Given the description of an element on the screen output the (x, y) to click on. 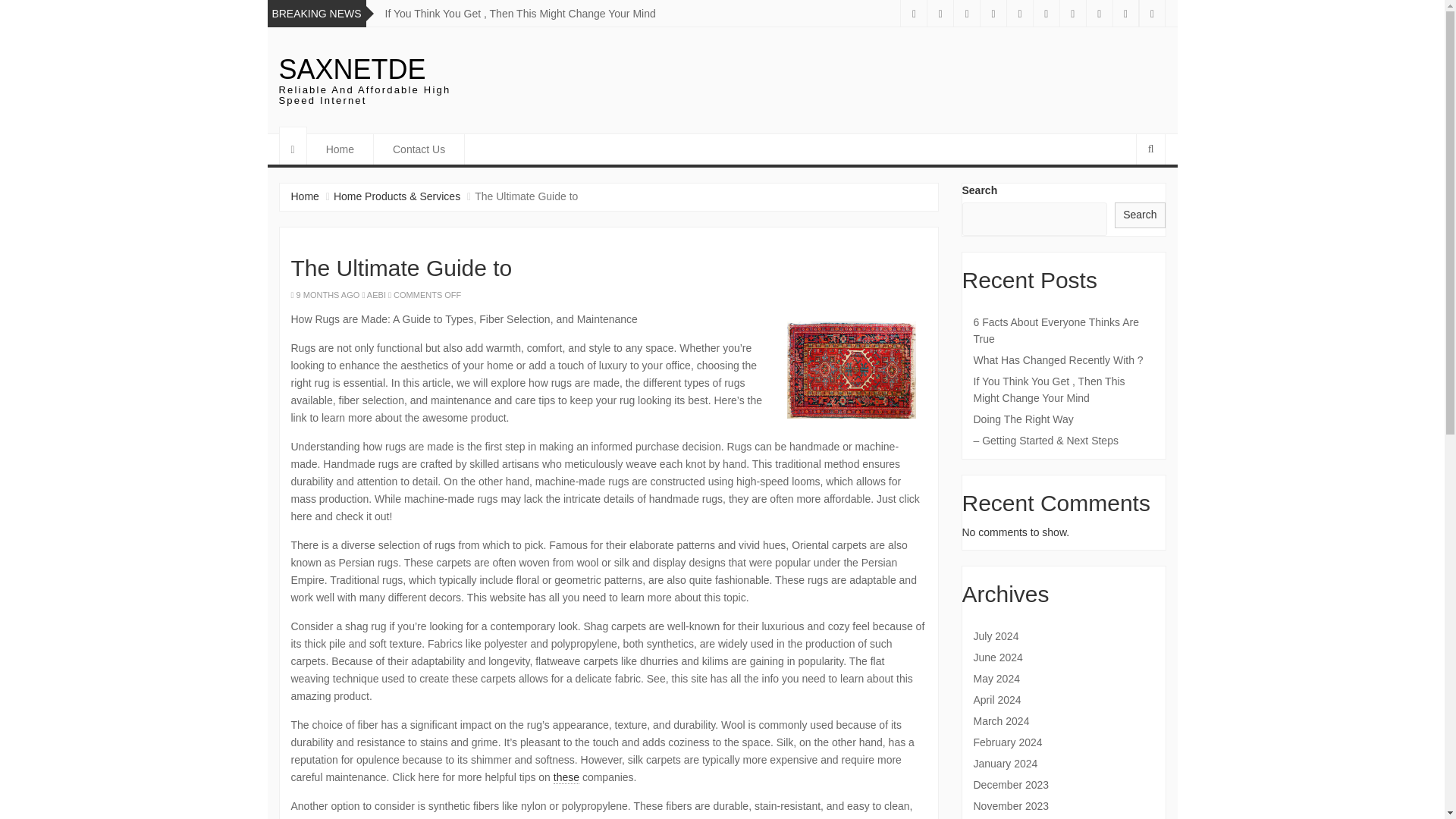
What Has Changed Recently With ? (1064, 360)
Home (340, 149)
Contact Us (419, 149)
these (566, 777)
Home (304, 196)
Search (1139, 215)
SAXNETDE (352, 69)
6 Facts About Everyone Thinks Are True (1064, 330)
If You Think You Get , Then This Might Change Your Mind (520, 13)
